Given the description of an element on the screen output the (x, y) to click on. 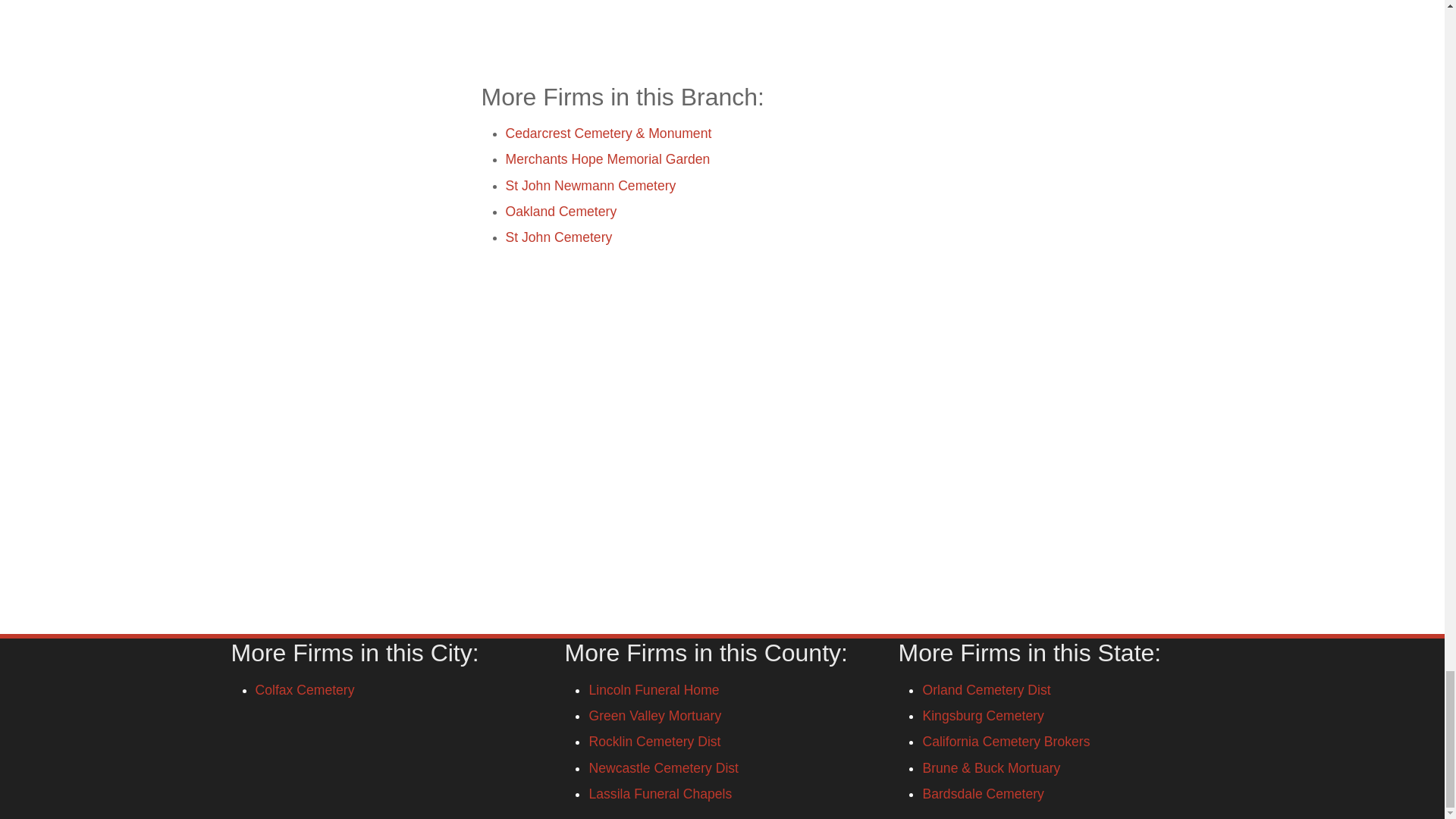
Oakland Cemetery (560, 211)
St John Newmann Cemetery (590, 185)
Merchants Hope Memorial Garden (607, 159)
St John Cemetery (558, 237)
Advertisement (721, 30)
